Given the description of an element on the screen output the (x, y) to click on. 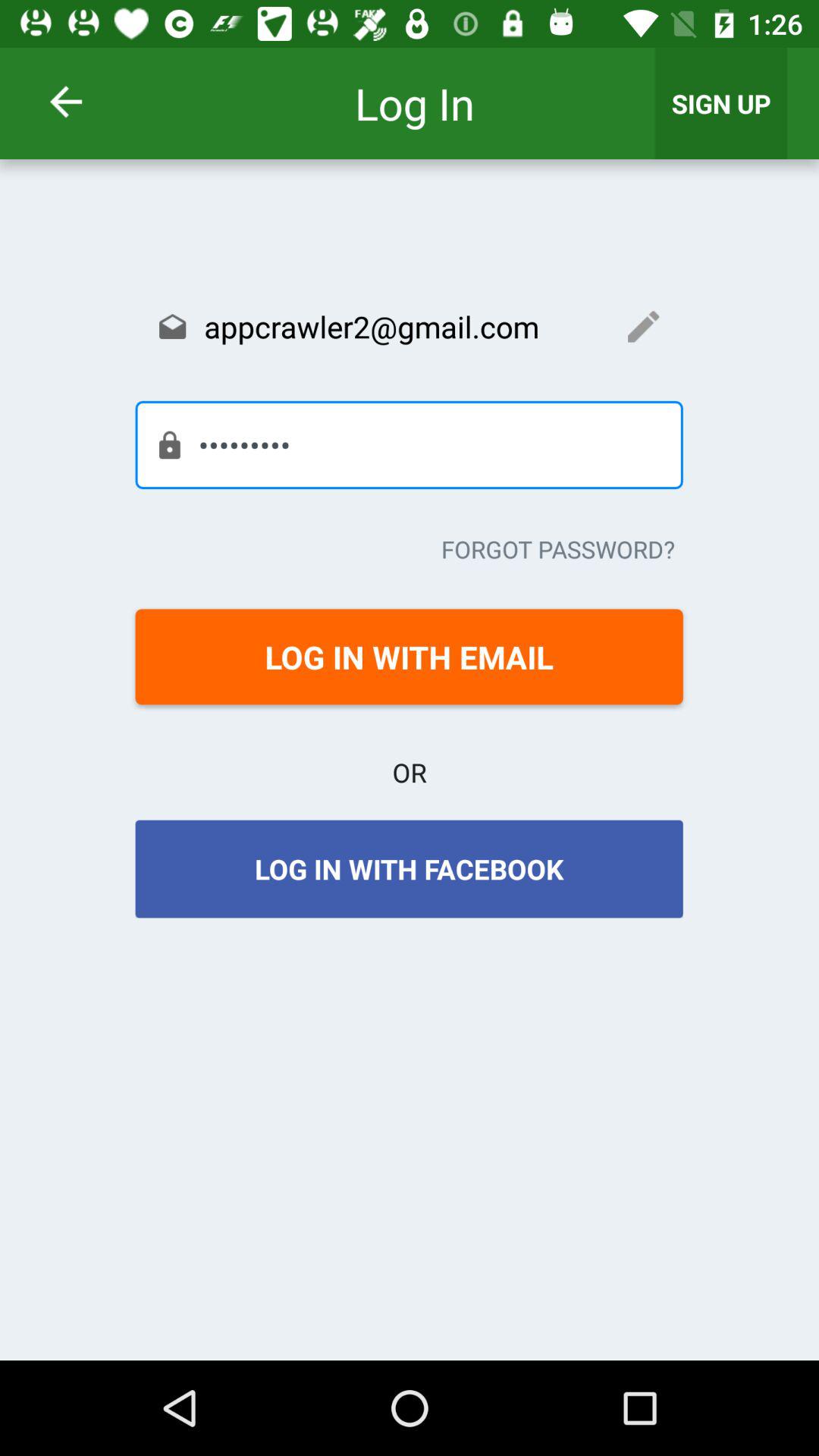
tap the item below appcrawler2@gmail.com icon (409, 444)
